Given the description of an element on the screen output the (x, y) to click on. 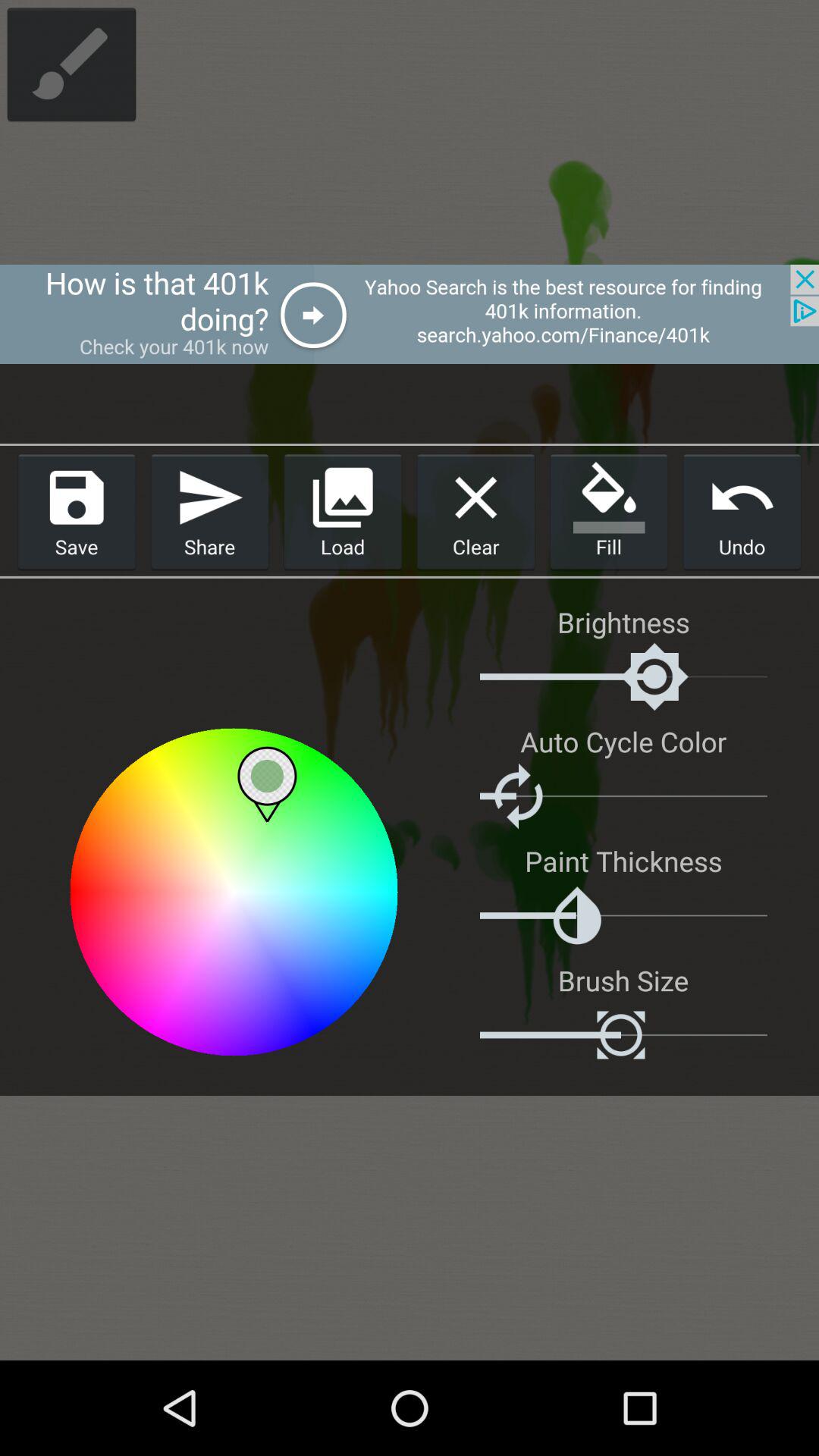
advertisement (409, 314)
